Given the description of an element on the screen output the (x, y) to click on. 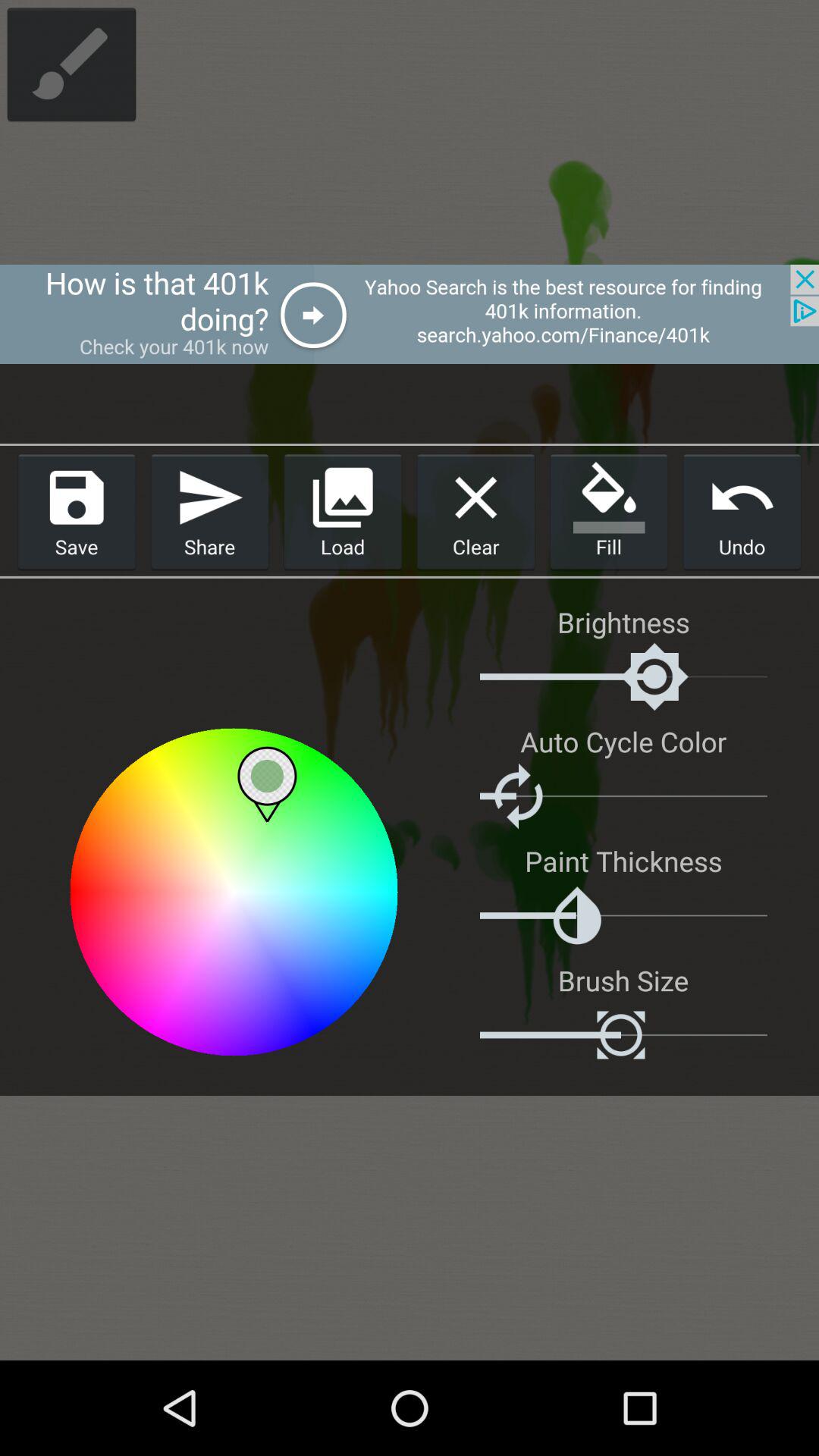
advertisement (409, 314)
